Given the description of an element on the screen output the (x, y) to click on. 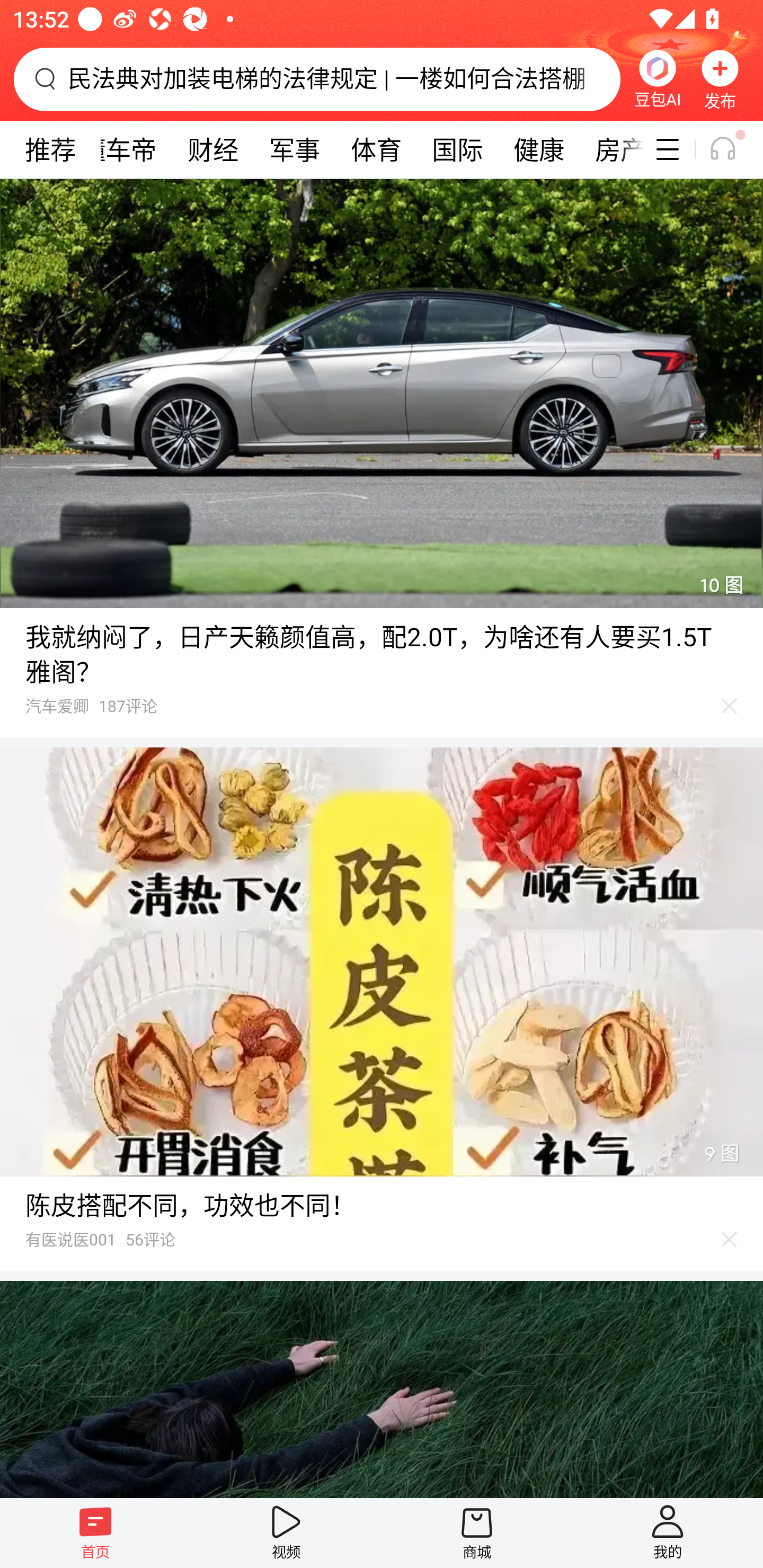
豆包AI AI回答，按钮 (657, 78)
发布 发布，按钮 (720, 78)
推荐 (49, 149)
财经 (212, 149)
军事 (294, 149)
体育 (376, 149)
国际 (457, 149)
健康 (538, 149)
房产 (611, 149)
听一听开关 (732, 149)
不感兴趣 (729, 705)
不感兴趣 (729, 1239)
今日壁纸|就做自己吧，奇怪一点也没关系的。作者为  是你的荼荼呀  66评论   文章 (381, 1389)
首页 (95, 1532)
视频 (285, 1532)
商城 (476, 1532)
我的 (667, 1532)
